Given the description of an element on the screen output the (x, y) to click on. 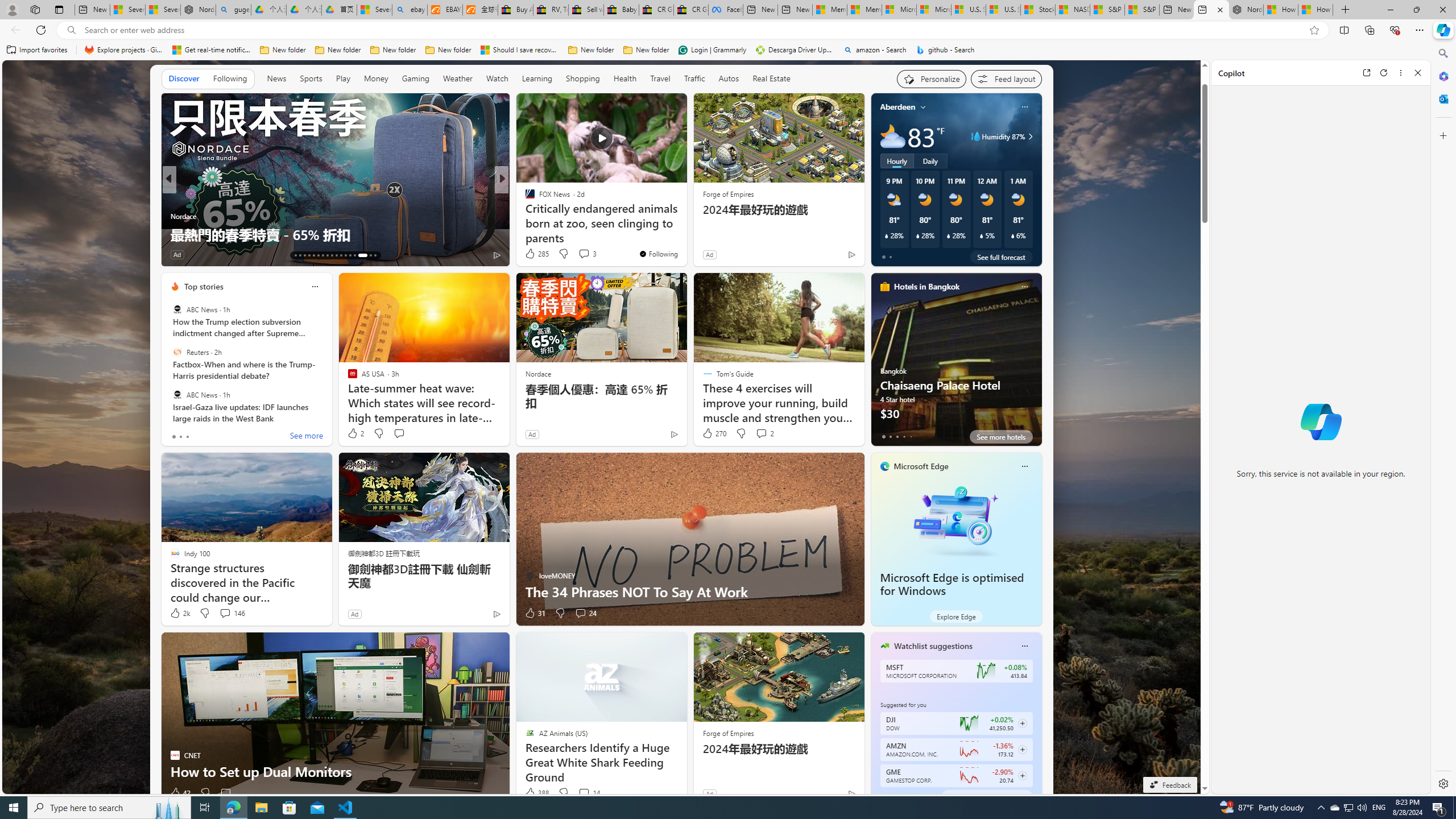
Settings (1442, 783)
Travel (660, 78)
Gaming (415, 78)
Health (624, 78)
View comments 24 Comment (580, 613)
ABC News (176, 394)
Class: weather-current-precipitation-glyph (1012, 235)
Search (1442, 53)
tab-0 (882, 795)
Descarga Driver Updater (794, 49)
tab-1 (889, 795)
Chaisaeng Palace Hotel (956, 363)
Class: weather-arrow-glyph (1029, 136)
